Given the description of an element on the screen output the (x, y) to click on. 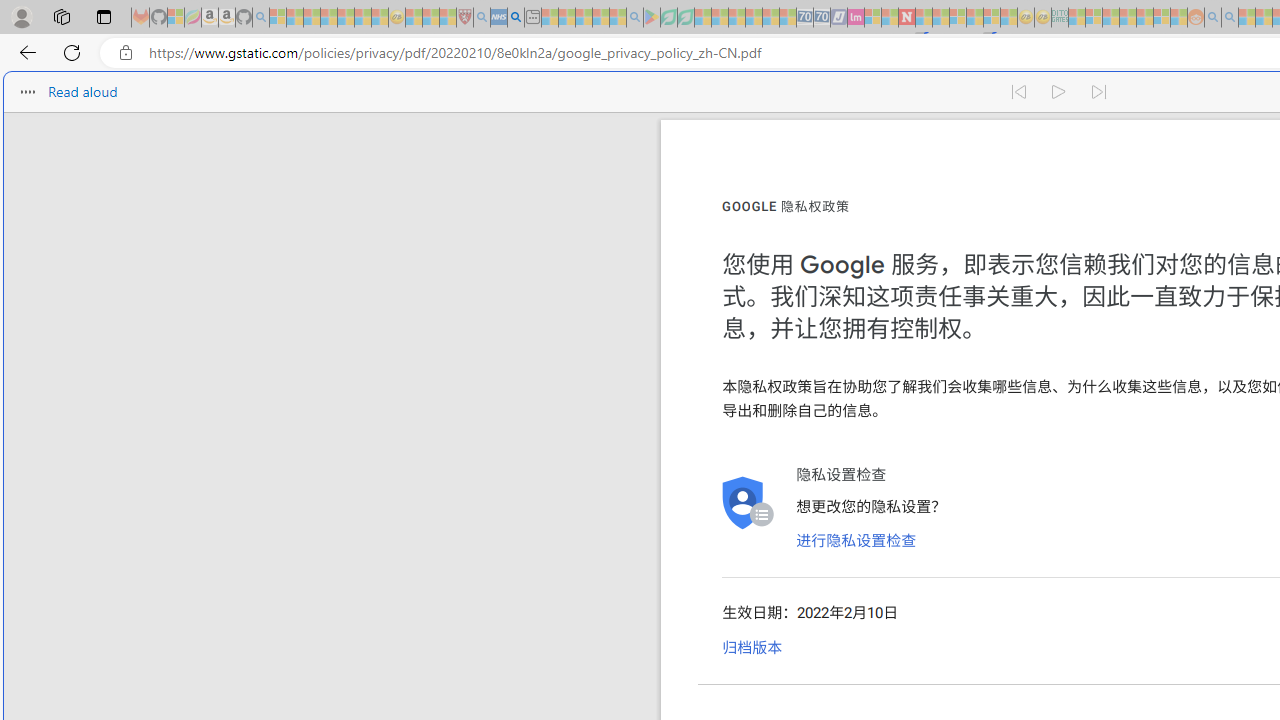
Read previous paragraph (1018, 92)
